Given the description of an element on the screen output the (x, y) to click on. 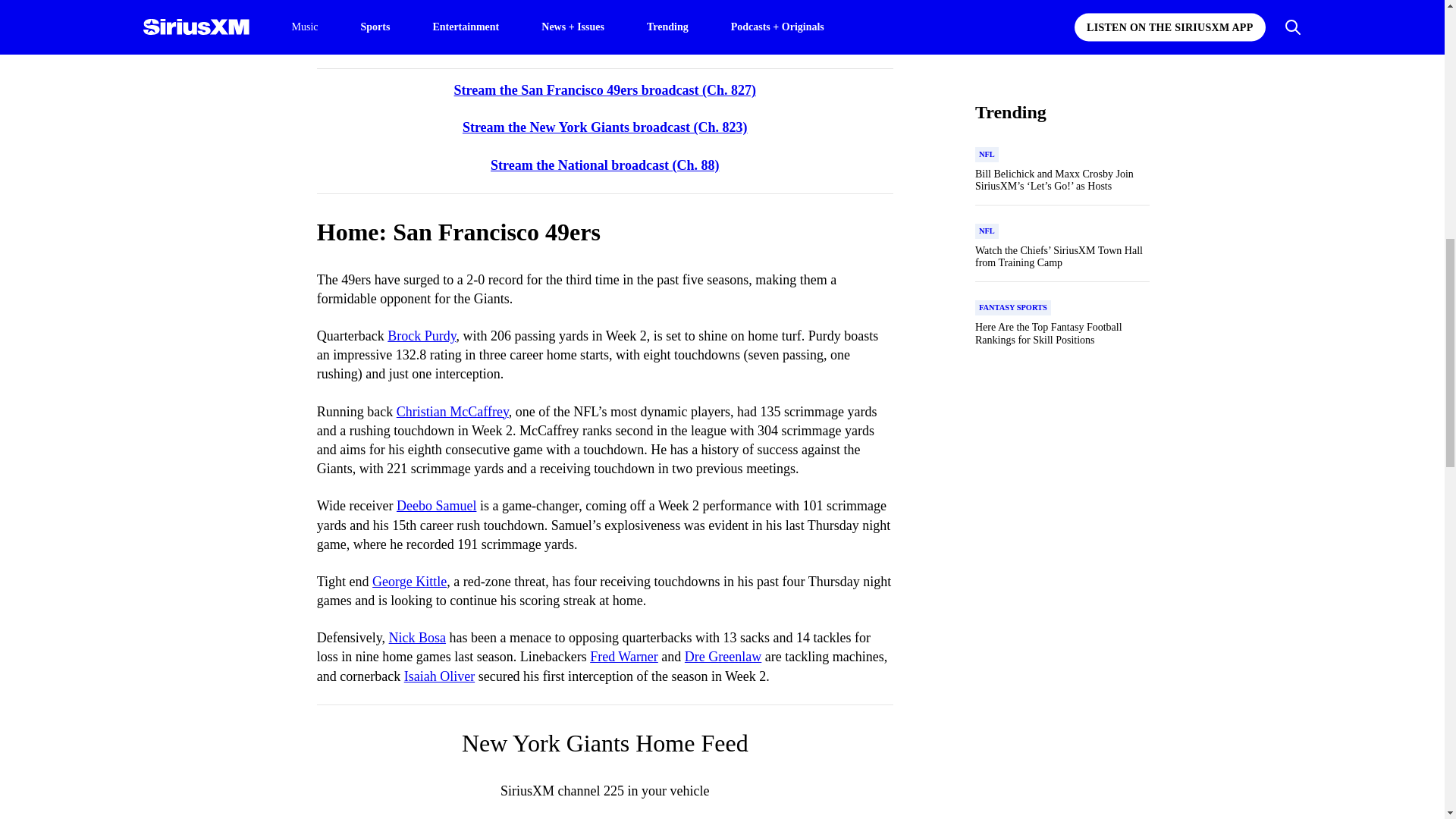
Nick Bosa (417, 637)
Brock Purdy (421, 335)
Deebo Samuel (436, 505)
Fred Warner (623, 656)
George Kittle (409, 581)
Dre Greenlaw (722, 656)
Christian McCaffrey (452, 411)
